Given the description of an element on the screen output the (x, y) to click on. 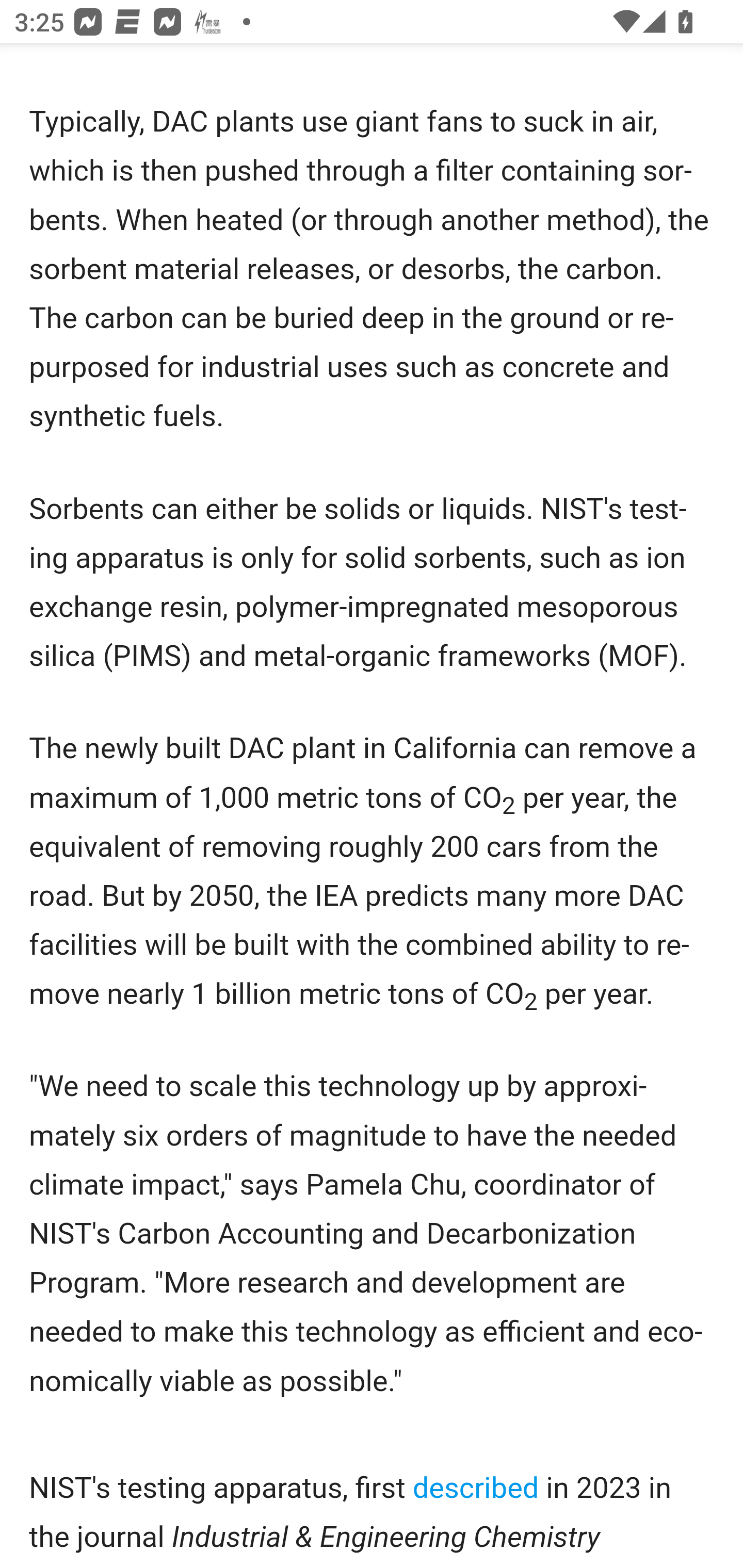
described (475, 1489)
